Given the description of an element on the screen output the (x, y) to click on. 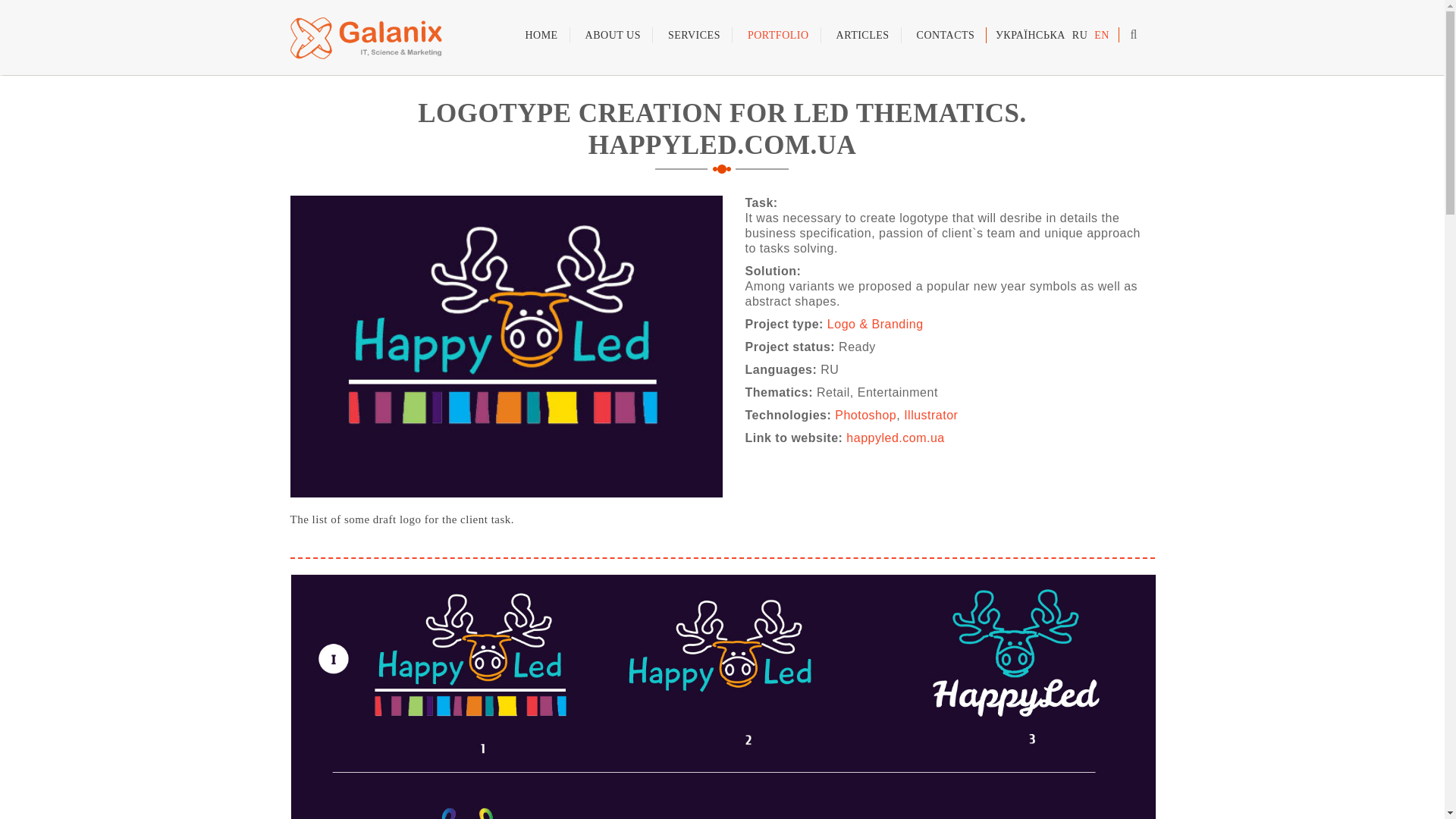
logo development by Galanix it (505, 346)
Logotype creation for LED thematics. Happyled.com.ua (1101, 34)
PORTFOLIO (778, 34)
Home (365, 37)
Skip to navigation (29, 0)
ABOUT US (612, 34)
Skip to main content (21, 0)
CONTACTS (946, 34)
HOME (541, 34)
RU (1079, 34)
